Given the description of an element on the screen output the (x, y) to click on. 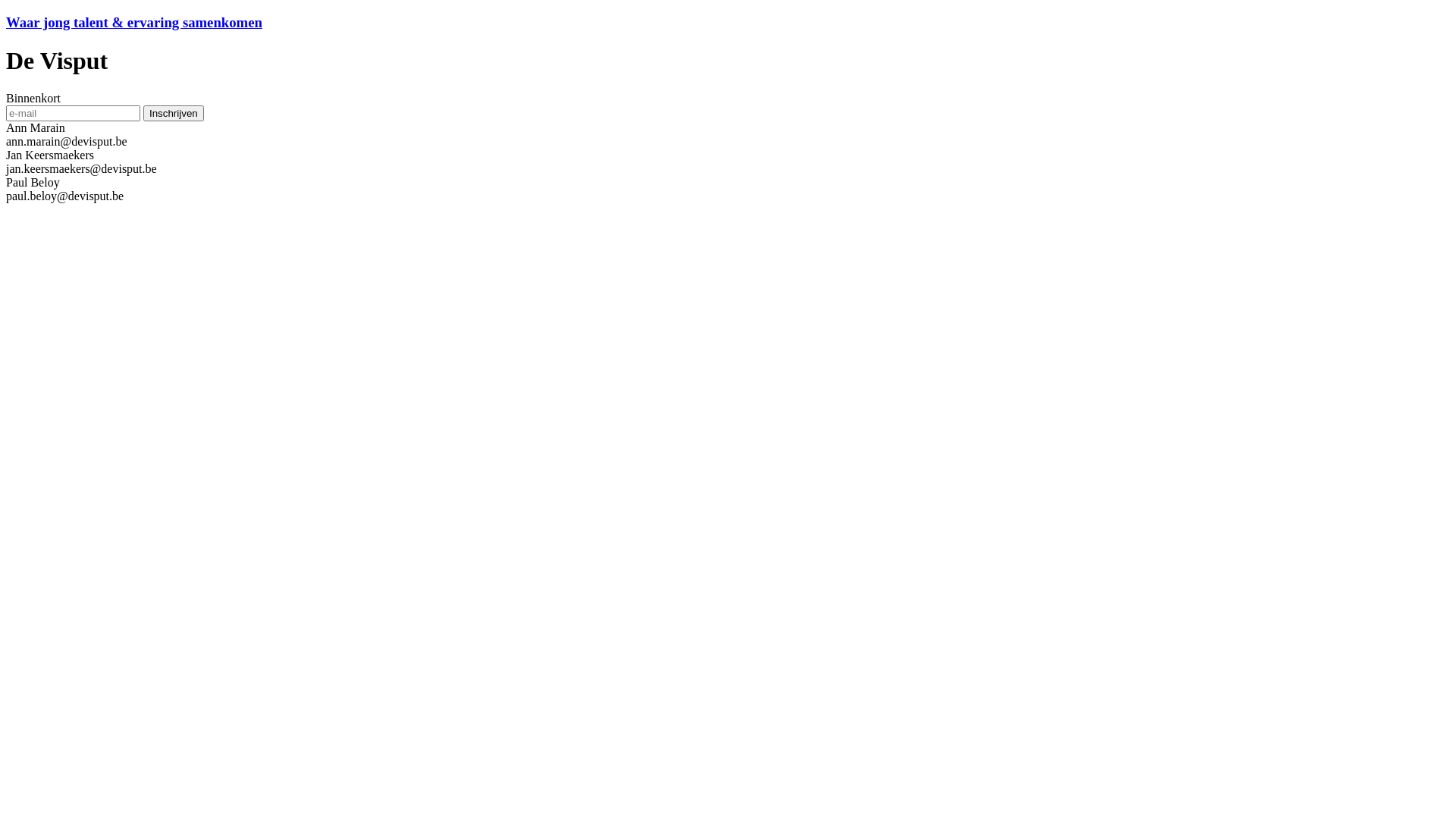
Inschrijven Element type: text (173, 113)
Waar jong talent & ervaring samenkomen Element type: text (134, 22)
